Given the description of an element on the screen output the (x, y) to click on. 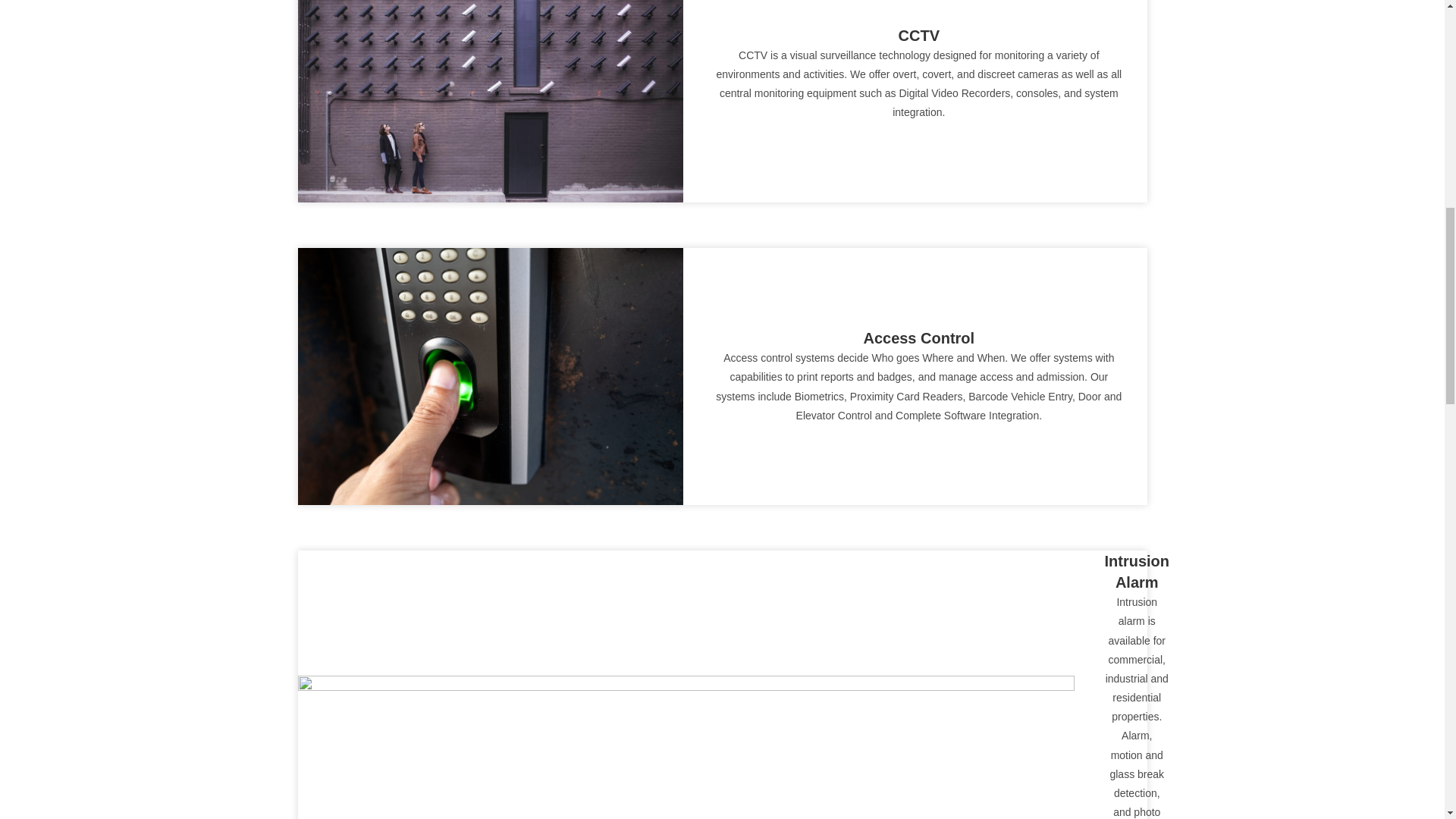
CCTV (918, 35)
Access Control (918, 338)
Intrusion Alarm (1136, 571)
